Given the description of an element on the screen output the (x, y) to click on. 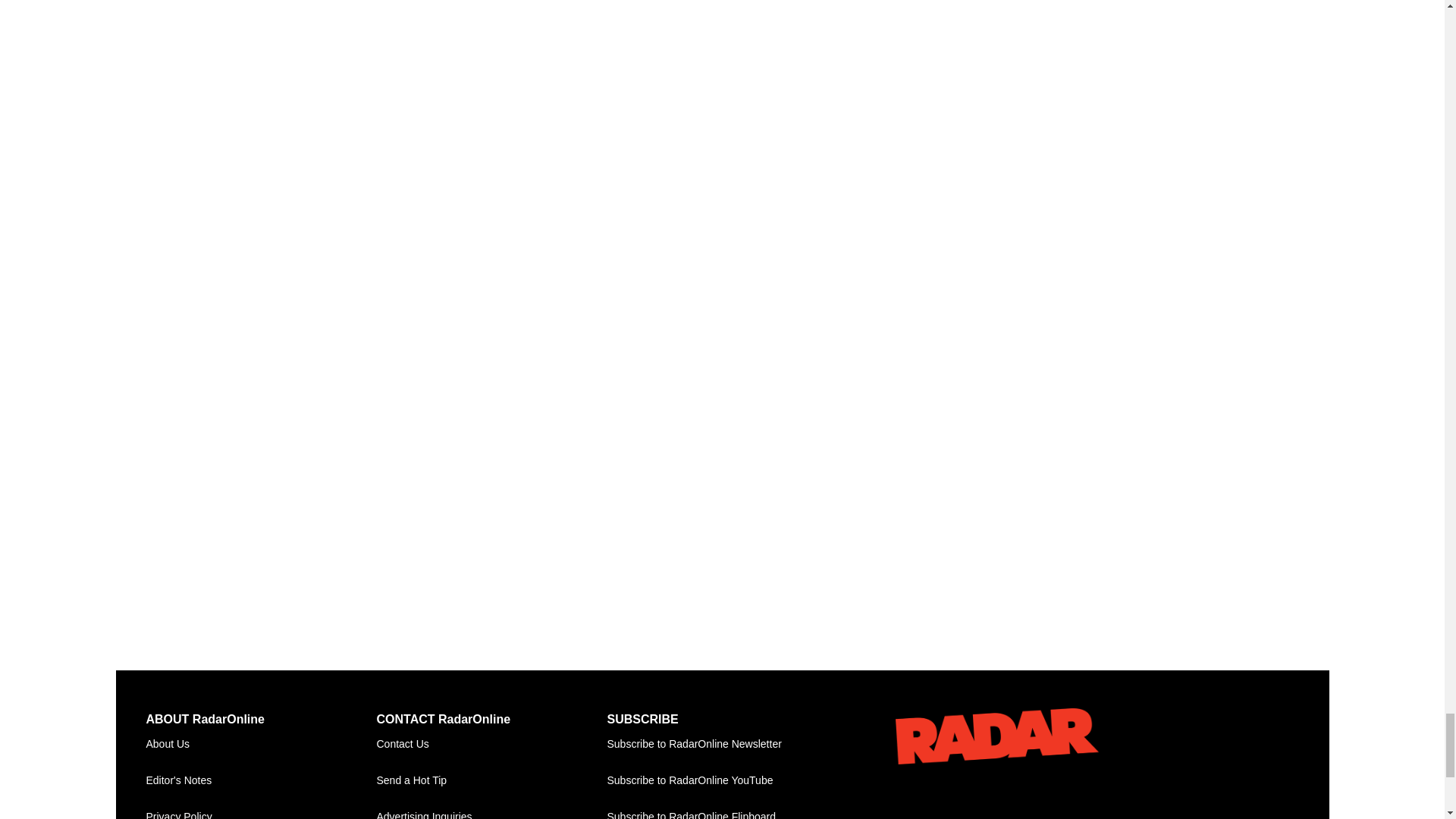
Contact Us (491, 744)
Privacy Policy (260, 809)
Send a Hot Tip (491, 780)
Editor's Notes (260, 780)
About Us (260, 744)
Subscribe (722, 744)
Advertising Inquiries (491, 809)
